Given the description of an element on the screen output the (x, y) to click on. 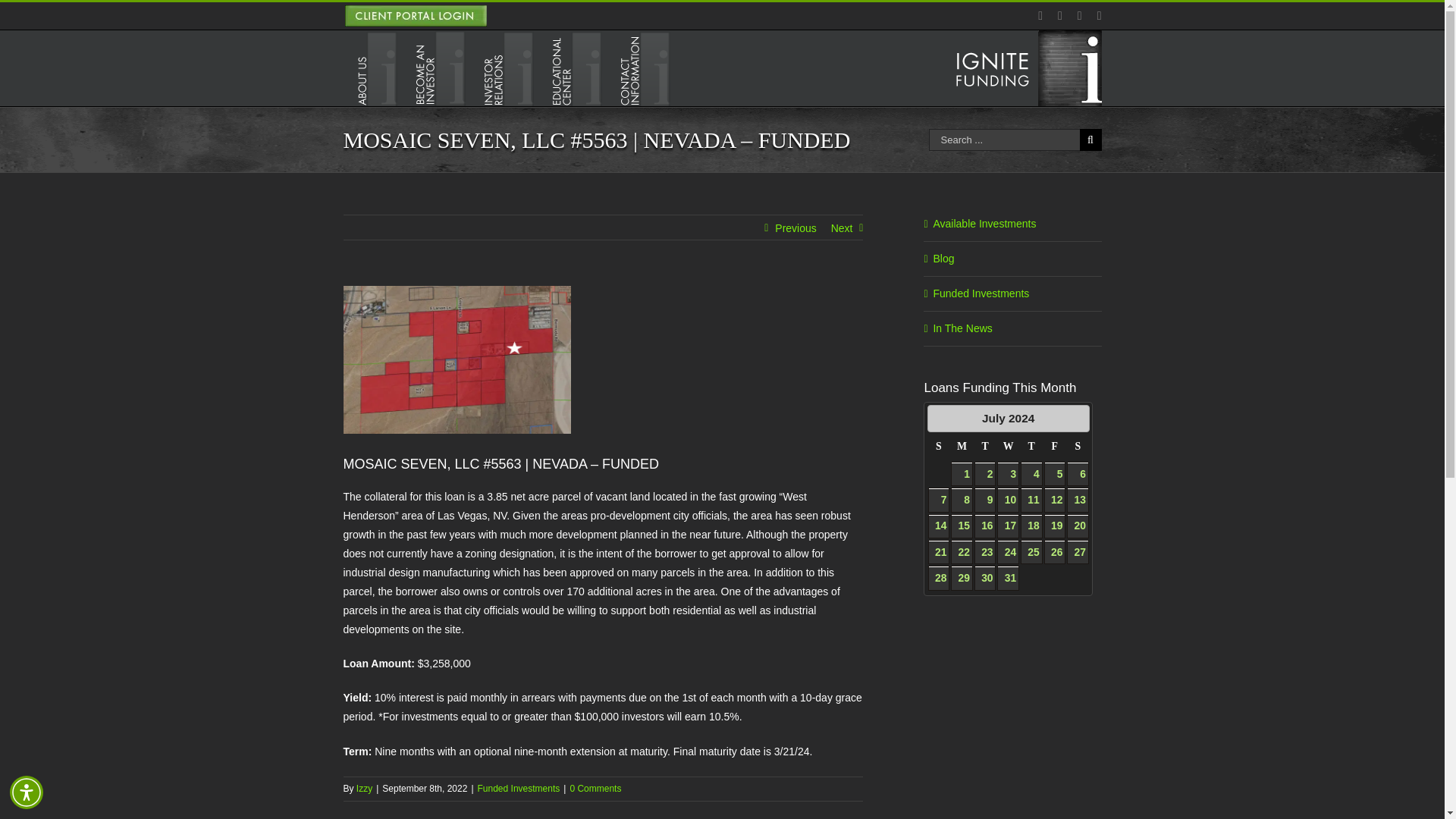
Previous (940, 417)
Accessibility Menu (26, 792)
Posts by Izzy (364, 787)
